Given the description of an element on the screen output the (x, y) to click on. 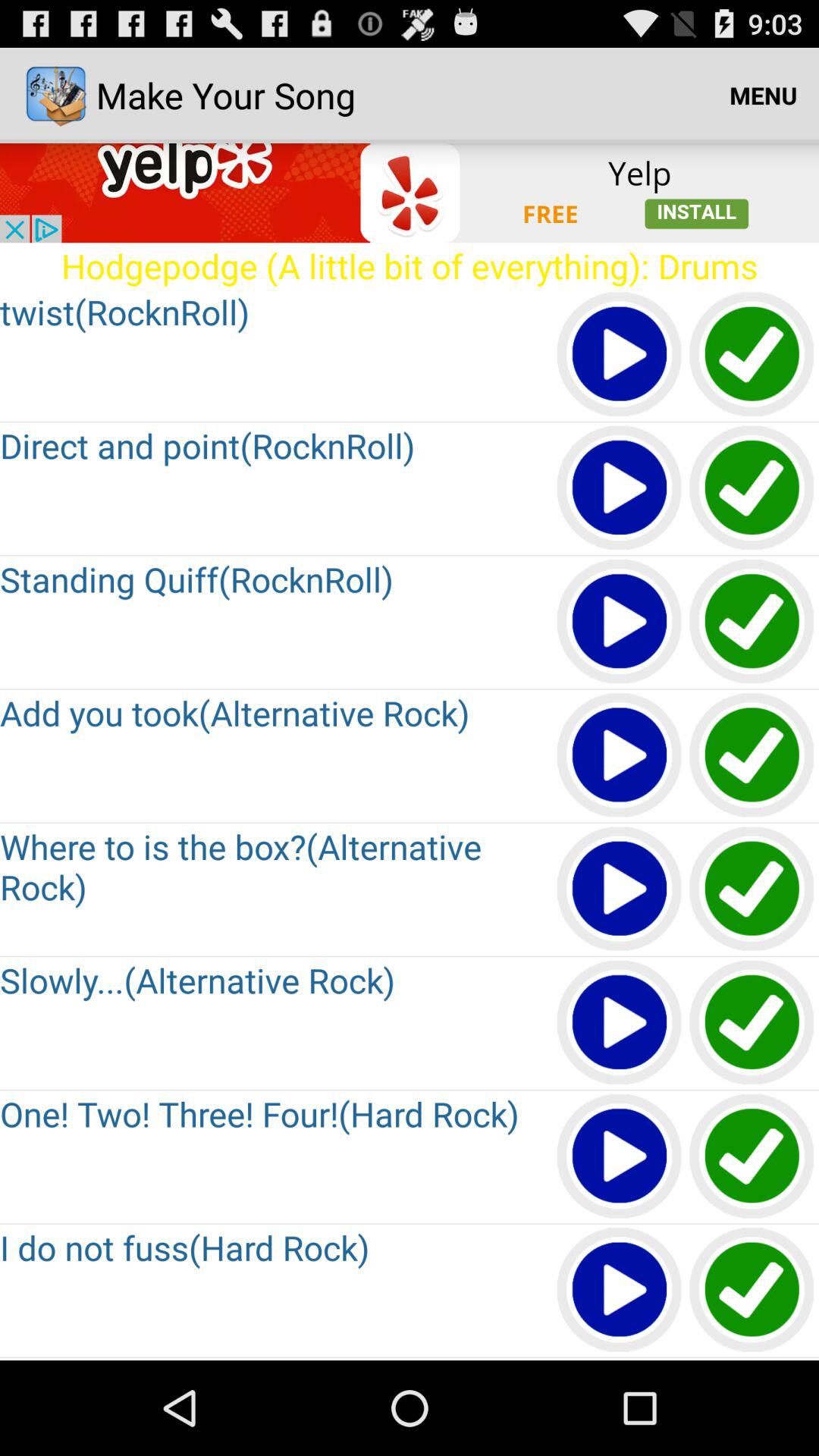
play audio (619, 488)
